Given the description of an element on the screen output the (x, y) to click on. 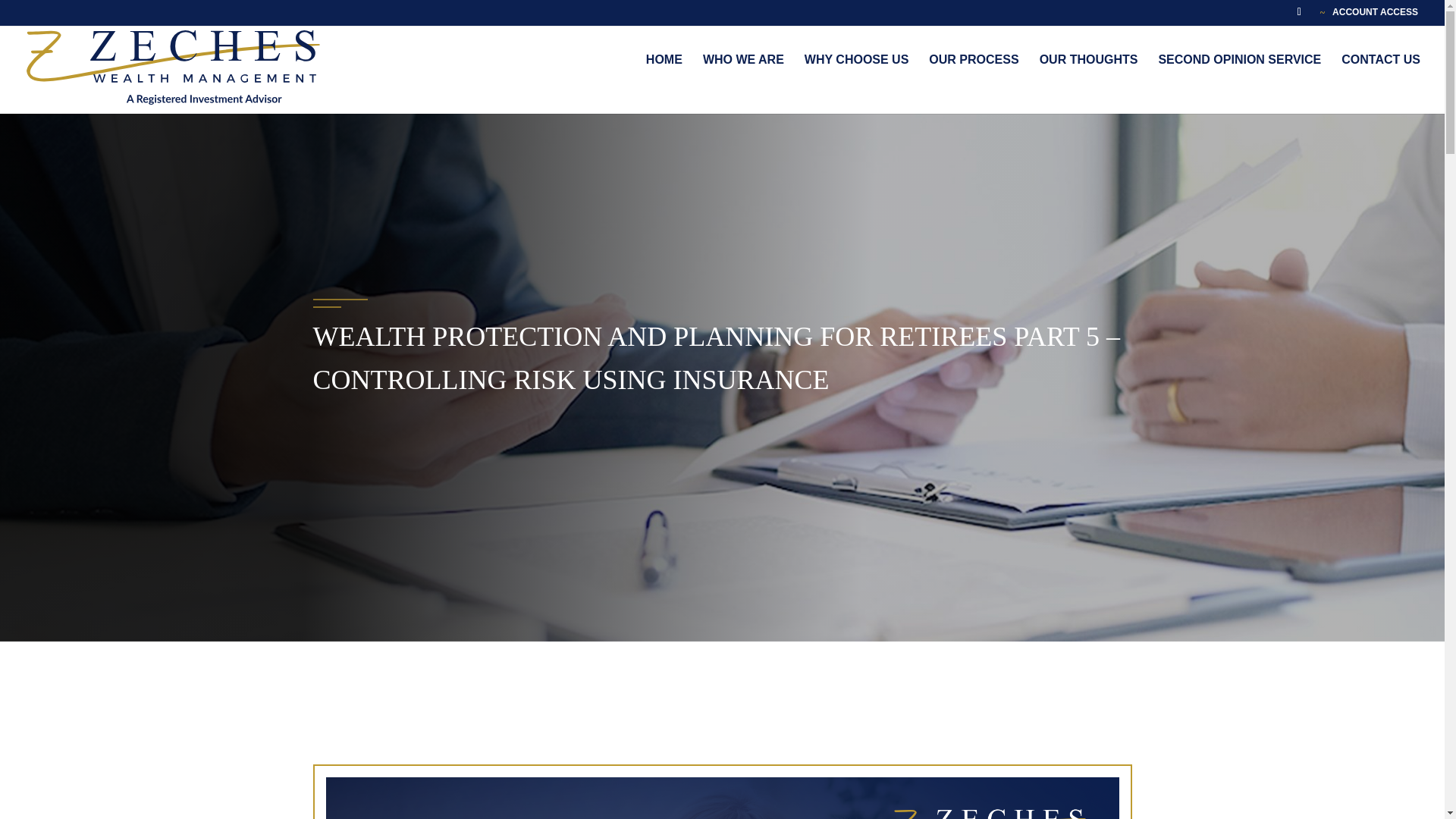
WHO WE ARE (743, 75)
CONTACT US (1380, 75)
ACCOUNT ACCESS (1369, 11)
OUR THOUGHTS (1088, 75)
OUR PROCESS (972, 75)
SECOND OPINION SERVICE (1238, 75)
WHY CHOOSE US (856, 75)
